Given the description of an element on the screen output the (x, y) to click on. 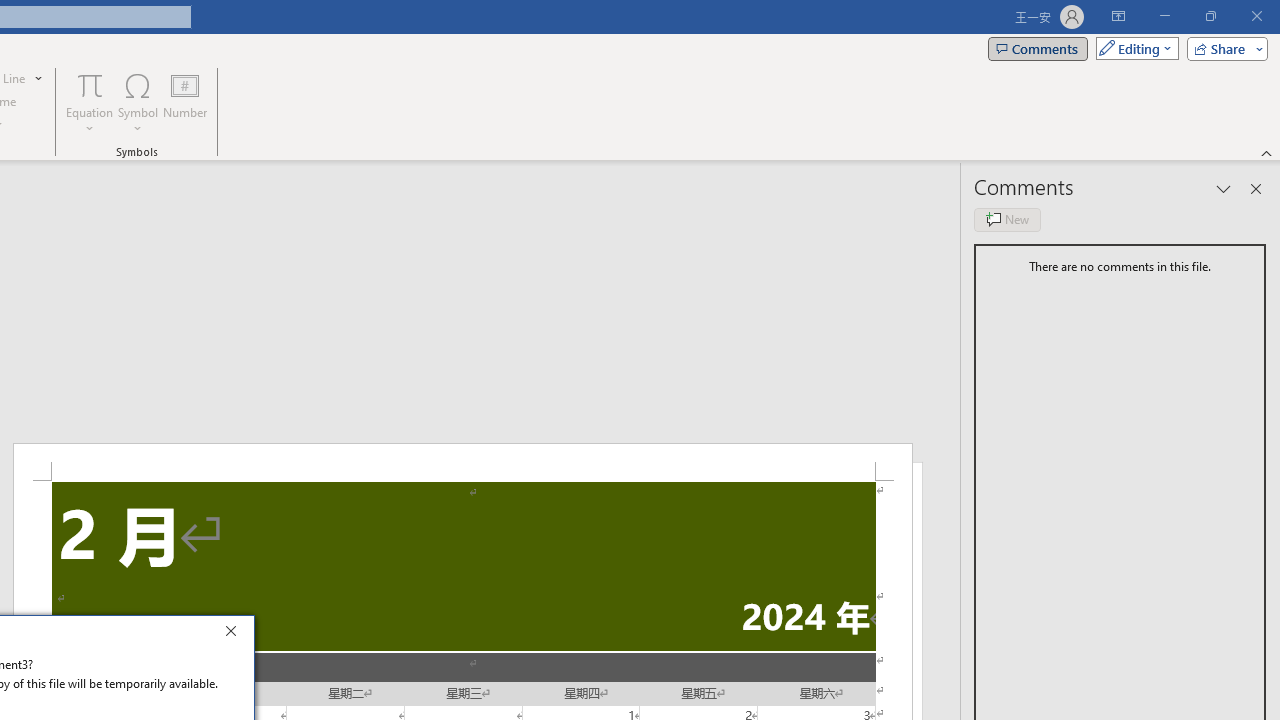
Number... (185, 102)
Symbol (138, 102)
Equation (90, 84)
New comment (1007, 219)
